Given the description of an element on the screen output the (x, y) to click on. 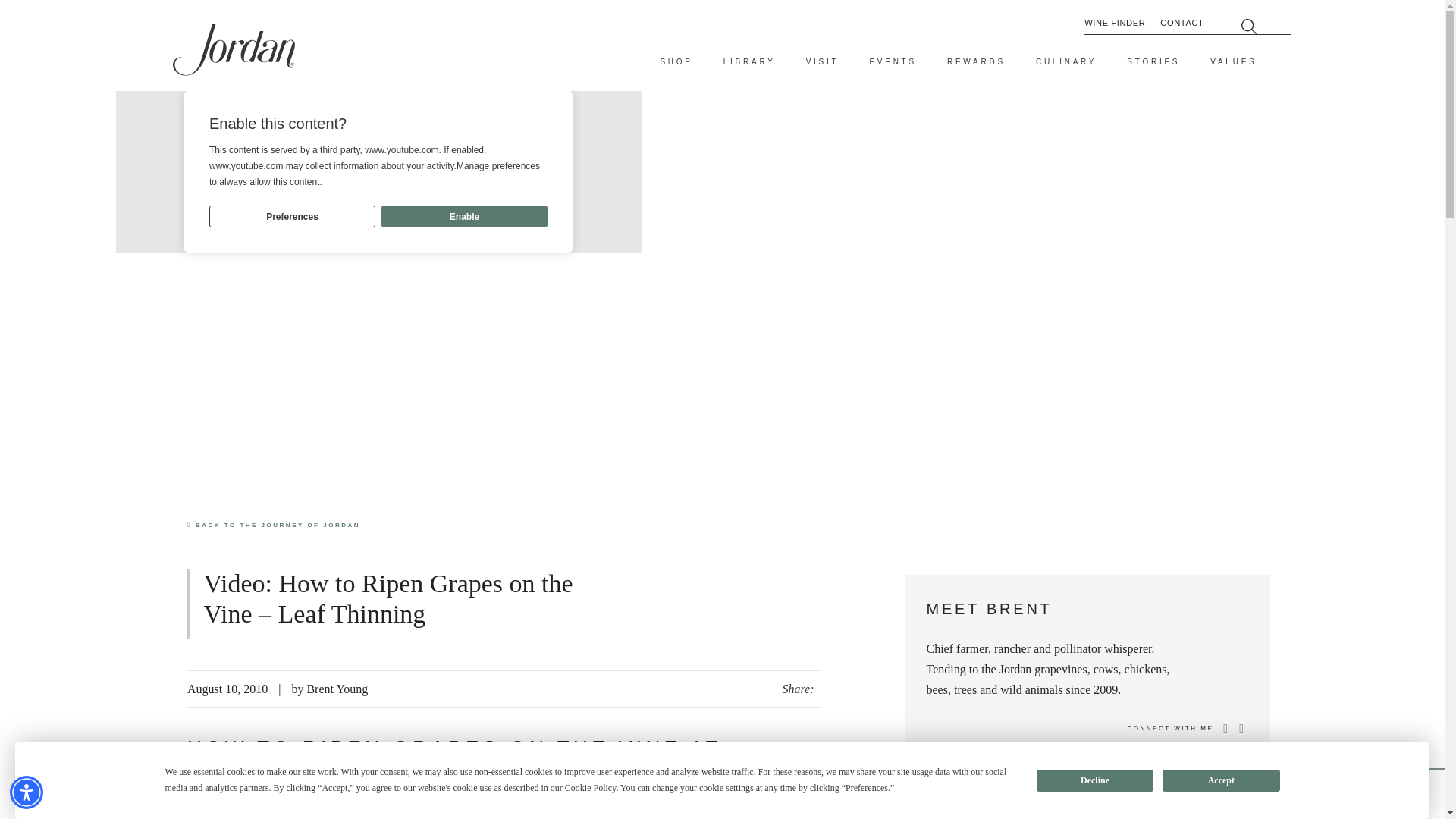
Accessibility Menu (26, 792)
SHOP (676, 62)
Accept (1220, 780)
Jordan Winery (234, 49)
EVENTS (893, 62)
WINE FINDER (1114, 23)
VISIT (823, 62)
LIBRARY (749, 62)
Decline (1094, 780)
CONTACT (1182, 23)
REWARDS (976, 62)
